Given the description of an element on the screen output the (x, y) to click on. 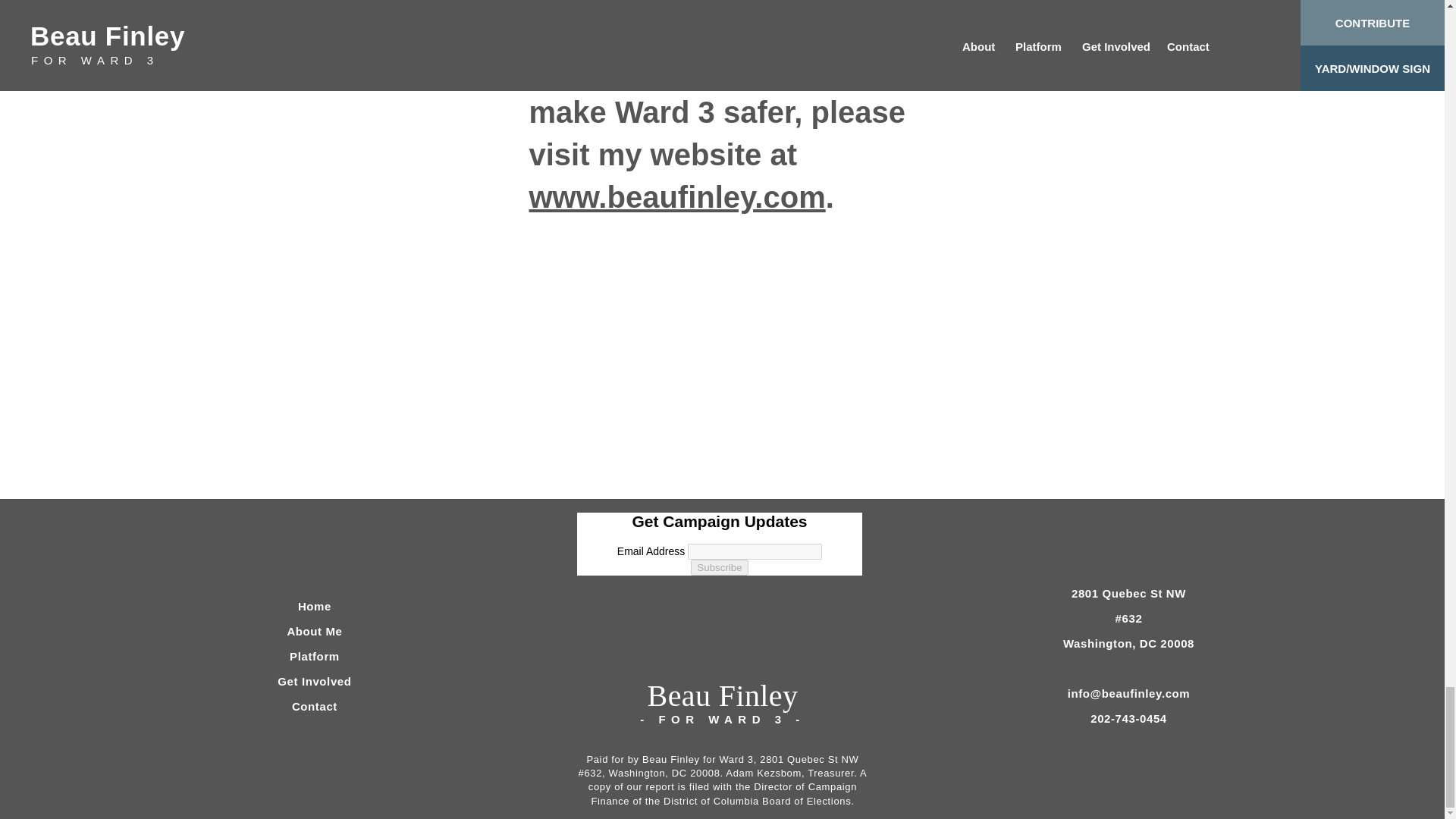
www.beaufinley.com (677, 196)
Get Involved (314, 680)
Embedded Content (718, 592)
About Me (314, 631)
Home (314, 605)
Platform (314, 656)
Contact (314, 706)
